Given the description of an element on the screen output the (x, y) to click on. 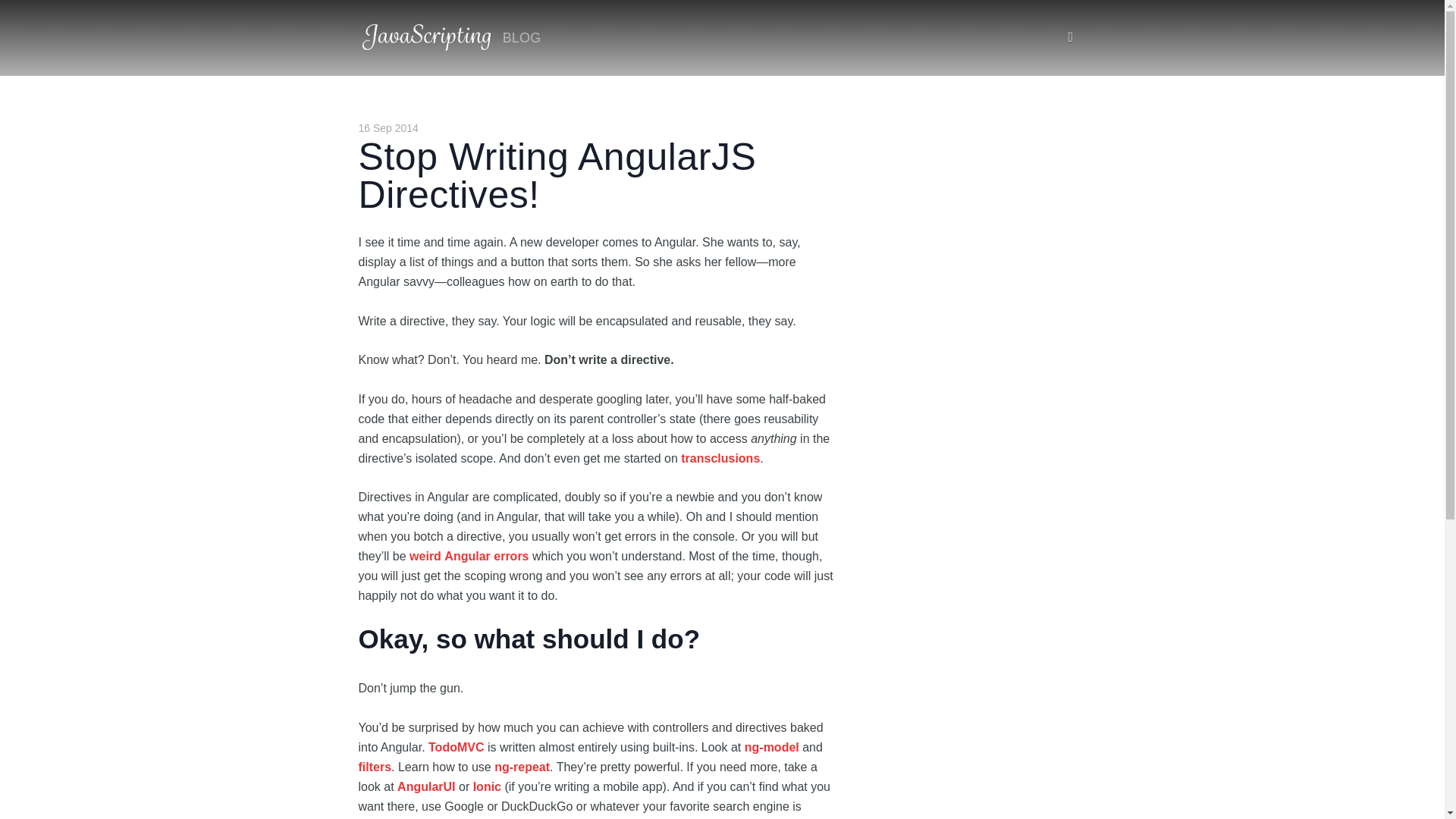
Twitter (1070, 37)
Ionic (486, 786)
filters (374, 766)
errors (510, 555)
weird (425, 555)
ng-model (771, 747)
transclusions (720, 458)
BLOG (521, 37)
ng-repeat (522, 766)
TodoMVC (455, 747)
Angular (466, 555)
AngularUI (425, 786)
